Given the description of an element on the screen output the (x, y) to click on. 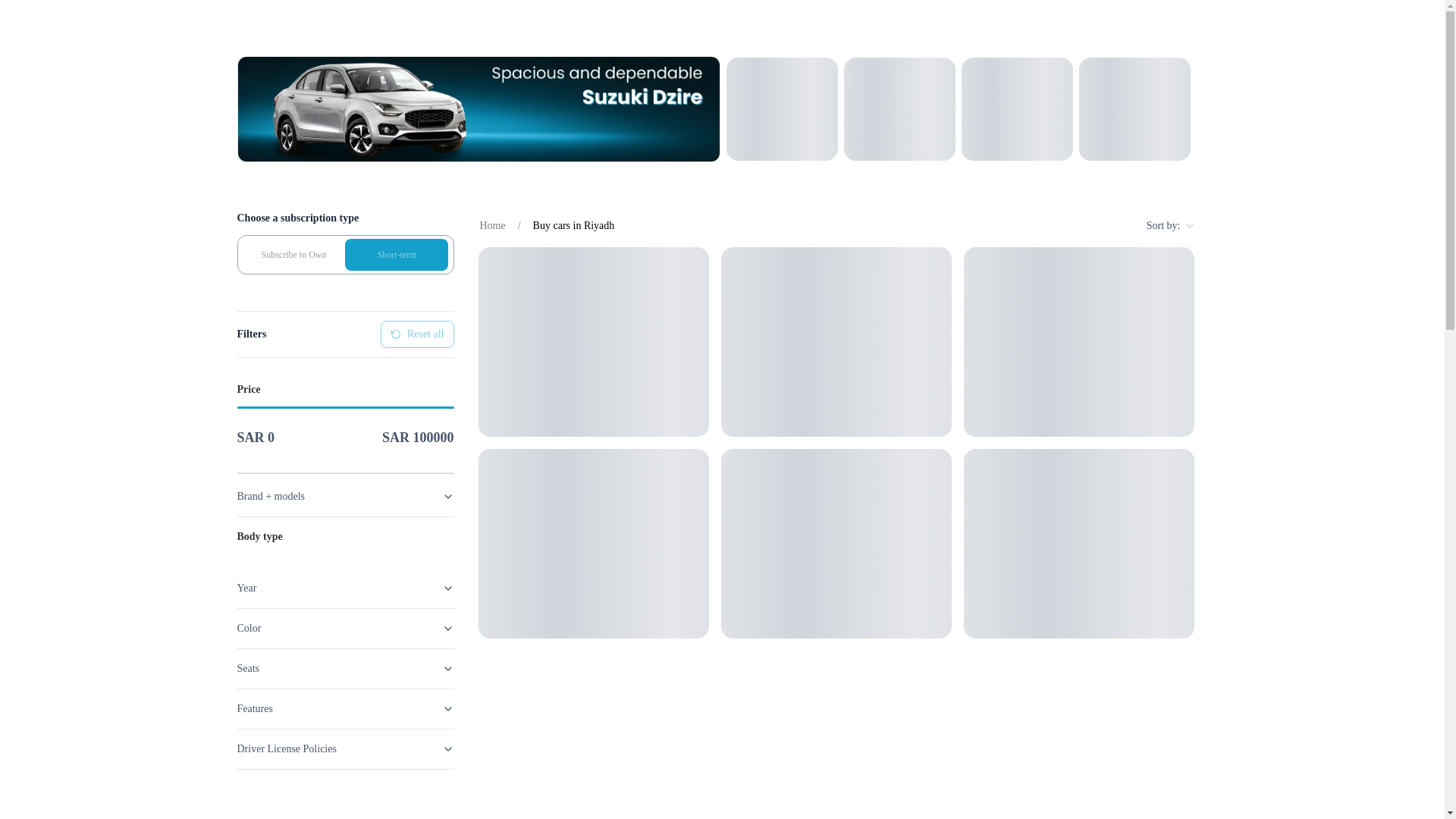
Seats (343, 669)
Features (343, 709)
Body type (343, 536)
Home (491, 225)
Year (343, 588)
Color (343, 629)
Reset all (417, 334)
Subscribe to Own (294, 254)
Short-term (397, 254)
Buy cars in Riyadh (573, 225)
Price (343, 389)
Driver License Policies (343, 749)
